Given the description of an element on the screen output the (x, y) to click on. 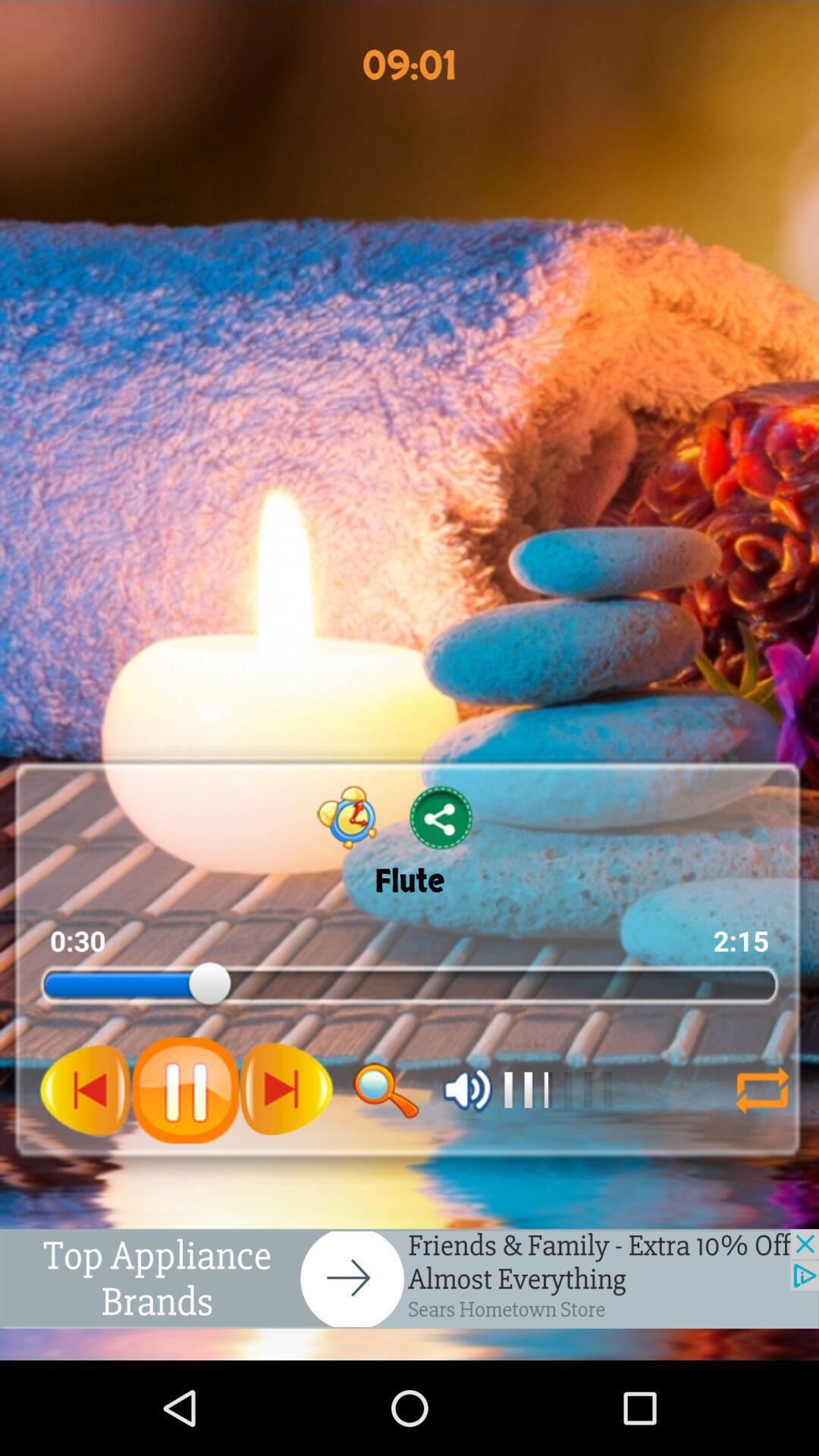
go to next putten (285, 1090)
